Given the description of an element on the screen output the (x, y) to click on. 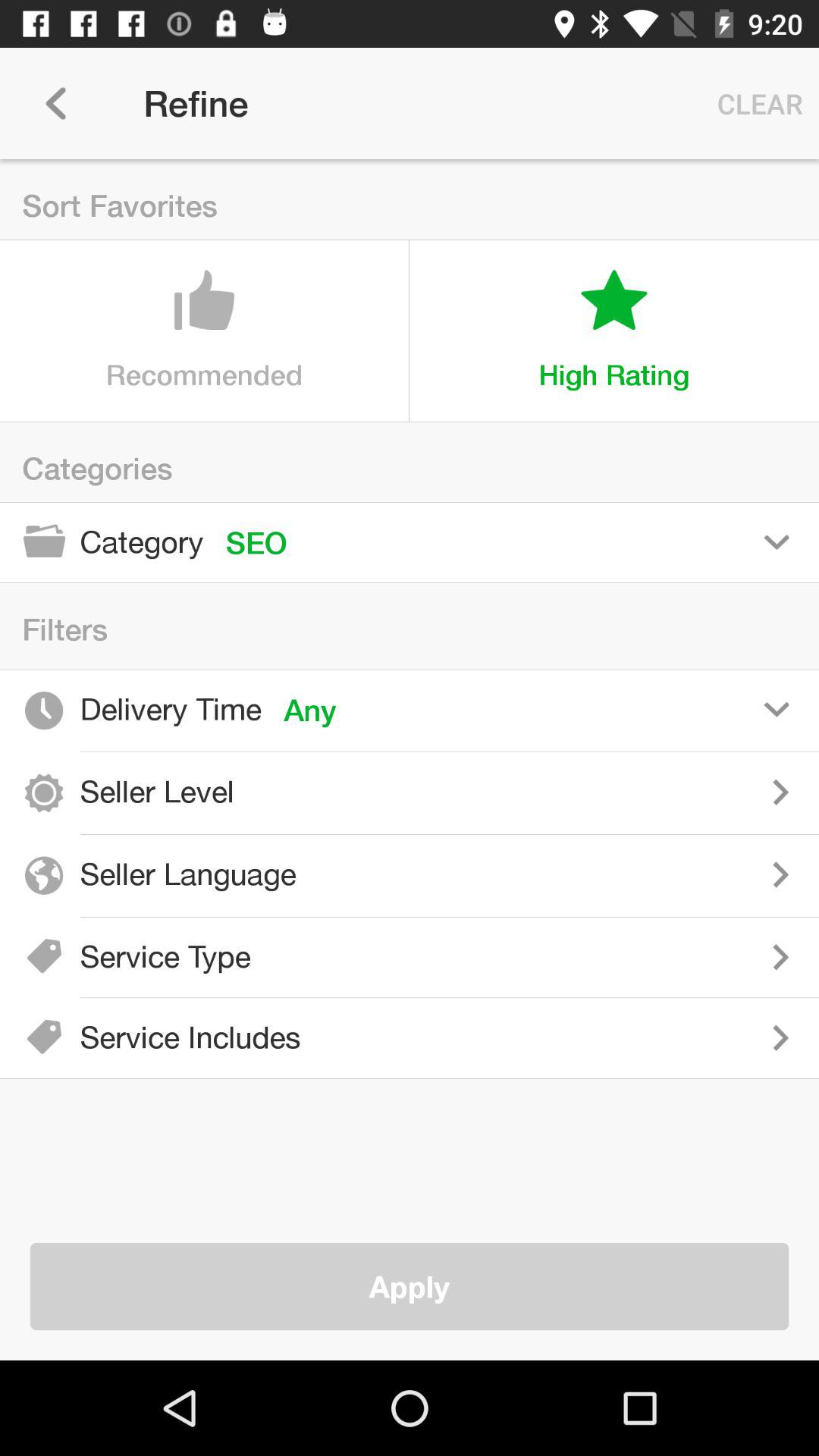
go to seller level (537, 791)
